Given the description of an element on the screen output the (x, y) to click on. 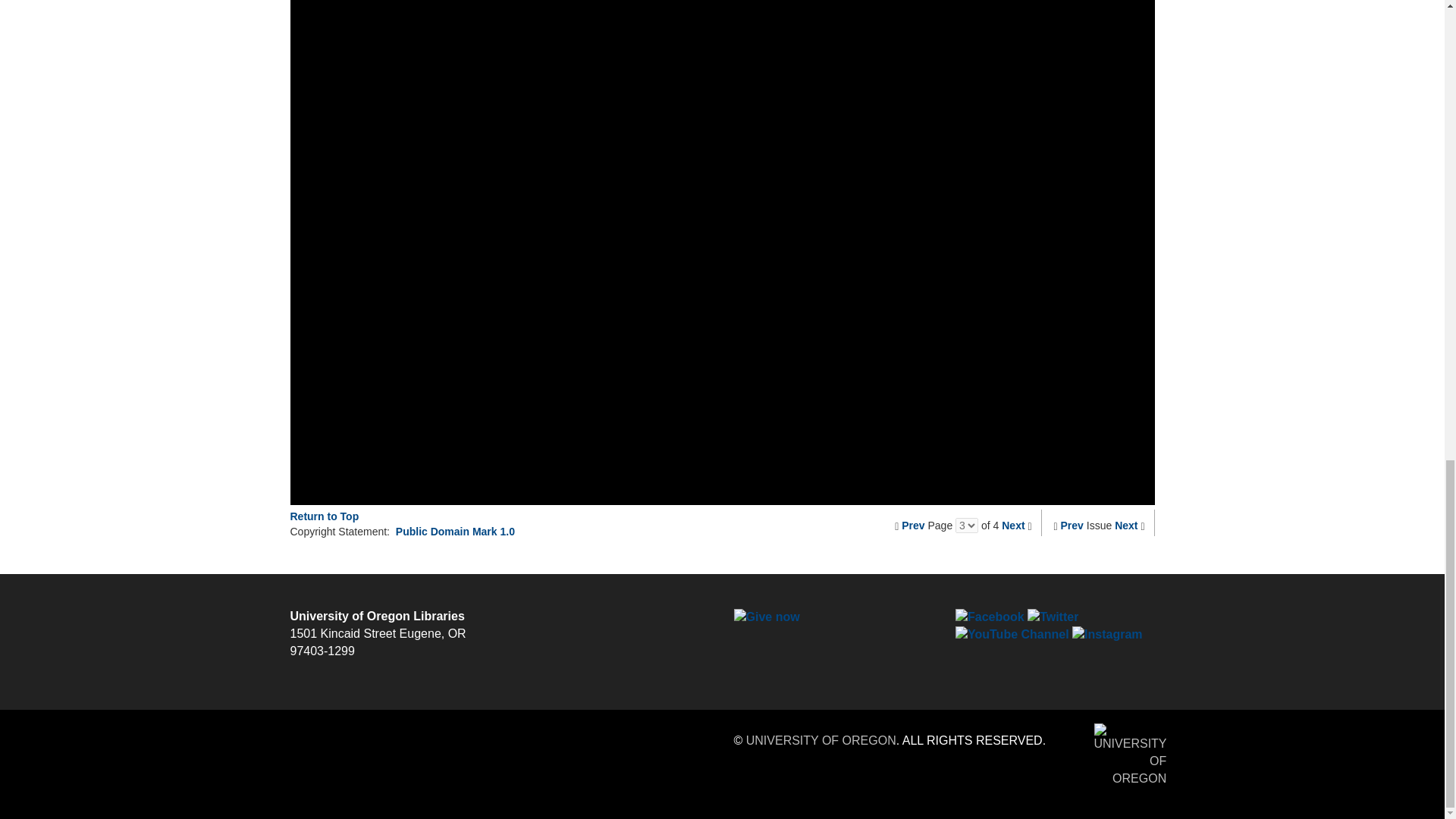
Prev (912, 525)
Next (1126, 525)
Return to Top (323, 516)
Public Domain Mark 1.0 (455, 531)
Prev (1072, 525)
Next (1013, 525)
